Given the description of an element on the screen output the (x, y) to click on. 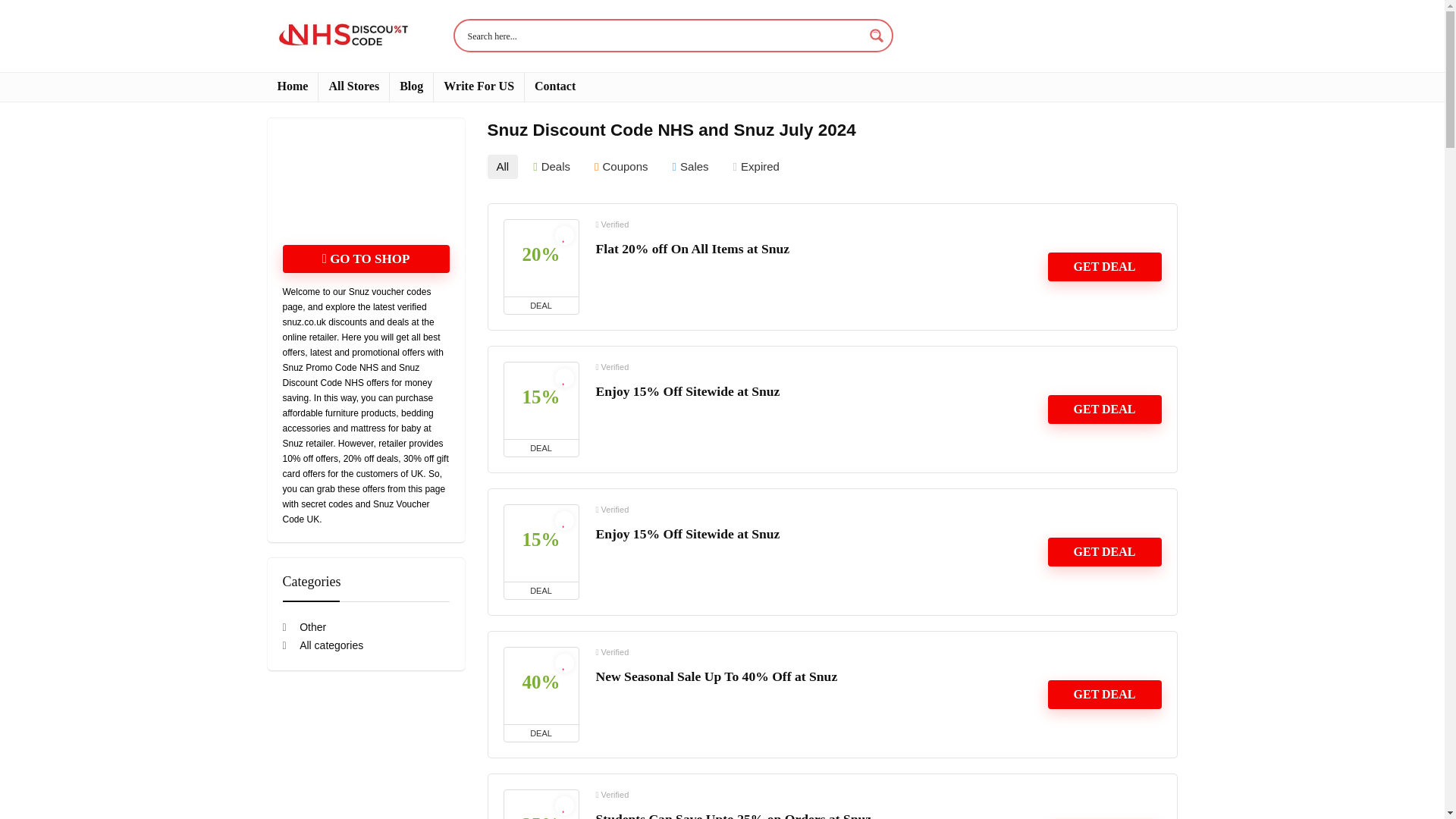
GET DEAL (1104, 266)
All Stores (353, 86)
GET DEAL (1104, 409)
Other (304, 626)
Contact (554, 86)
Write For US (478, 86)
All categories (322, 644)
GET DEAL (1104, 551)
GET DEAL (1104, 694)
GO TO SHOP (365, 258)
Home (291, 86)
Blog (411, 86)
